Given the description of an element on the screen output the (x, y) to click on. 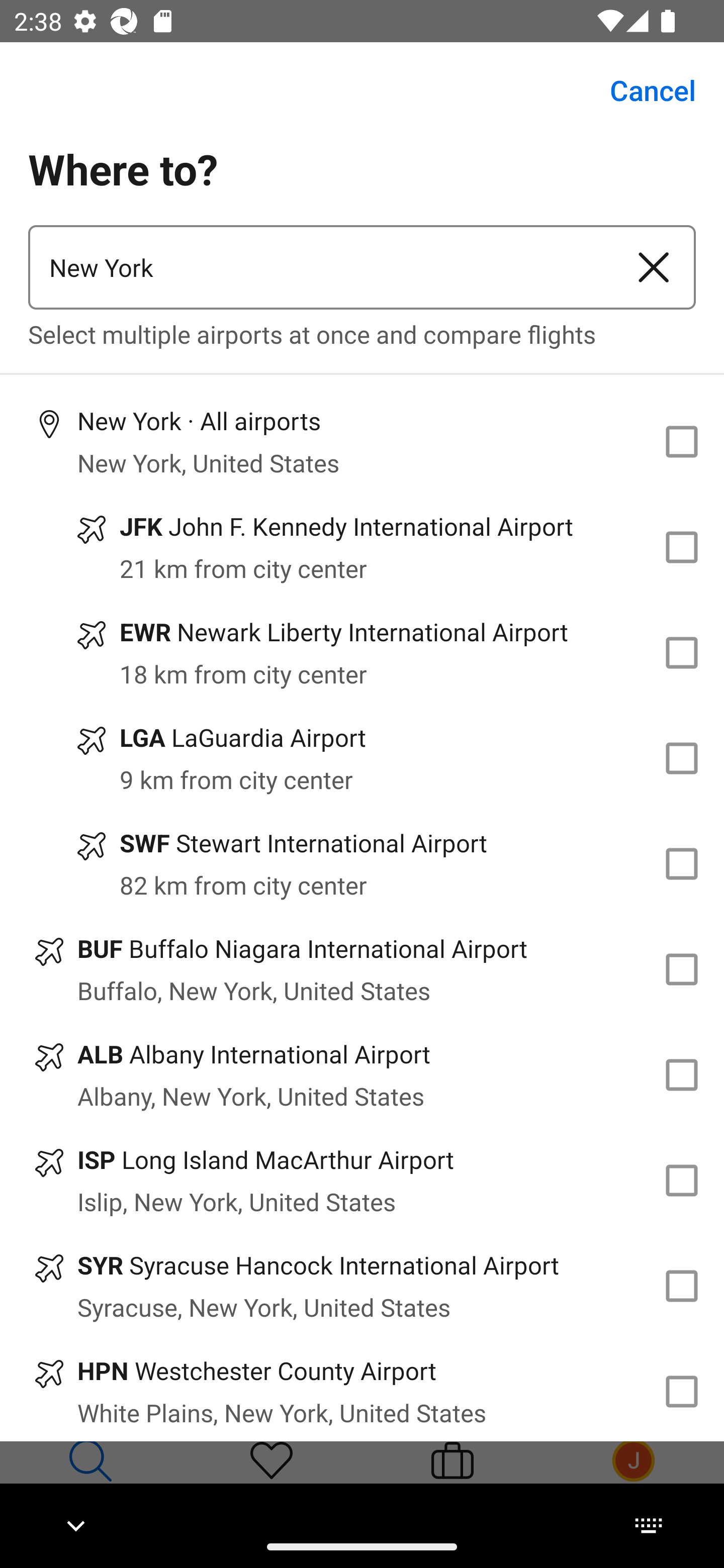
Cancel (641, 90)
New York (319, 266)
Clear airport or city (653, 266)
New York · All airports New York, United States (362, 440)
LGA LaGuardia Airport 9 km from city center (362, 757)
